Given the description of an element on the screen output the (x, y) to click on. 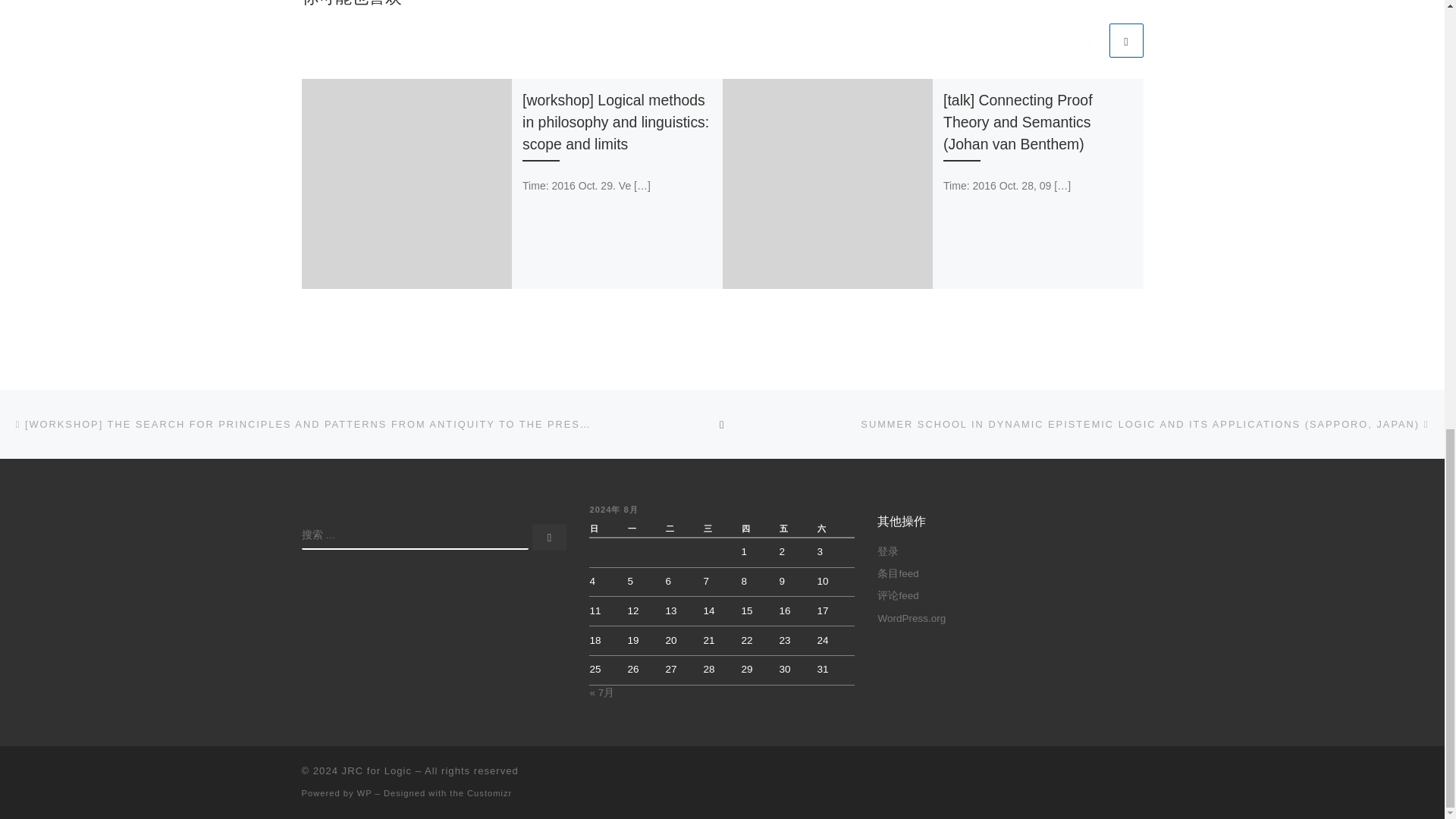
Powered by WordPress (364, 792)
Customizr (489, 792)
JRC for Logic (377, 770)
